Given the description of an element on the screen output the (x, y) to click on. 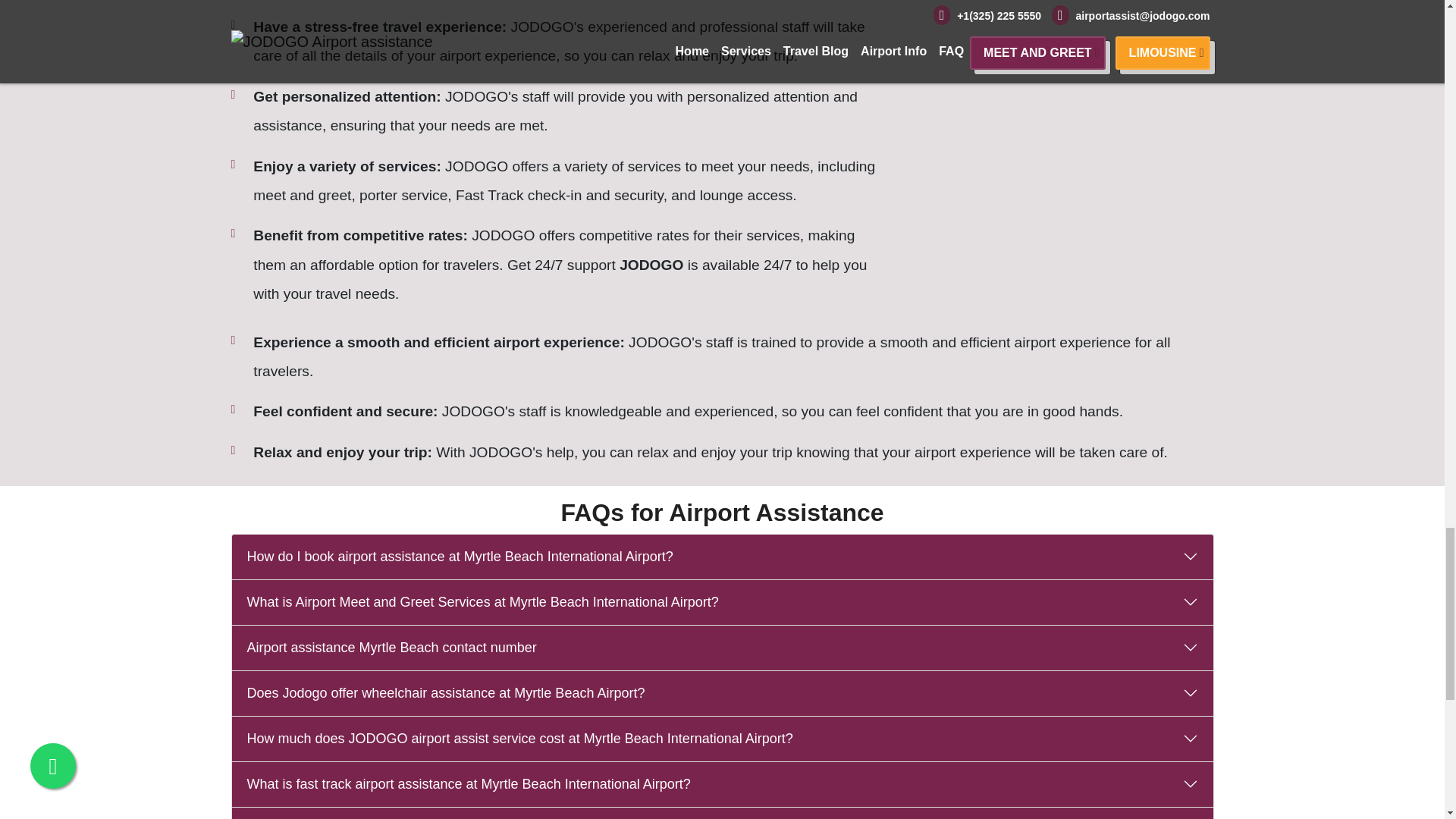
Airport assistance Myrtle Beach contact number (721, 647)
